Given the description of an element on the screen output the (x, y) to click on. 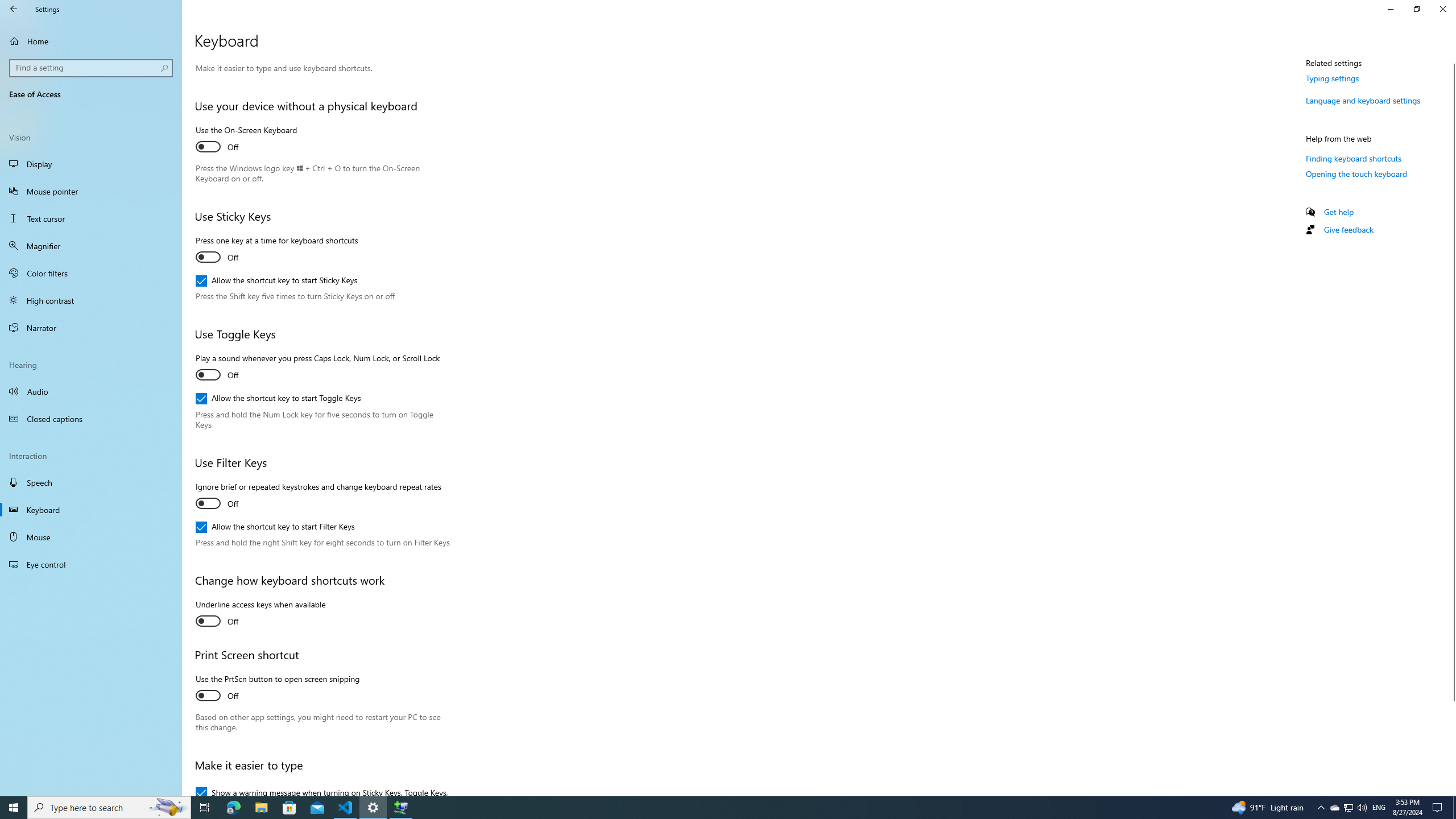
Keyboard (91, 509)
